Given the description of an element on the screen output the (x, y) to click on. 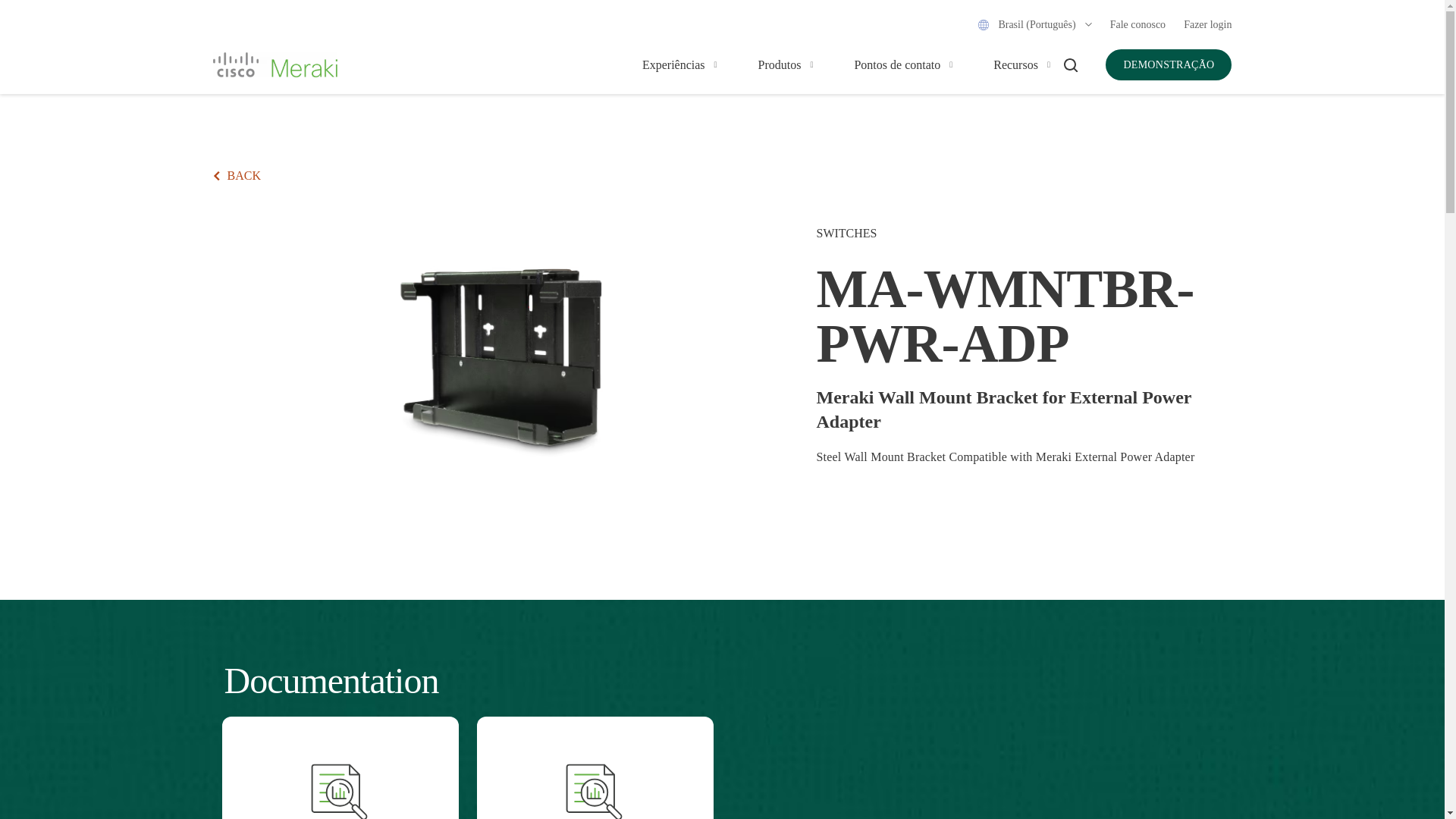
Fale conosco (1137, 24)
Produtos (780, 65)
Pesquisar na Meraki (1070, 64)
Recursos (1015, 65)
Fazer login (1207, 24)
MS Family Datasheet (339, 760)
Installation Guide (594, 760)
Pontos de contato (896, 65)
click to go back (236, 176)
